Given the description of an element on the screen output the (x, y) to click on. 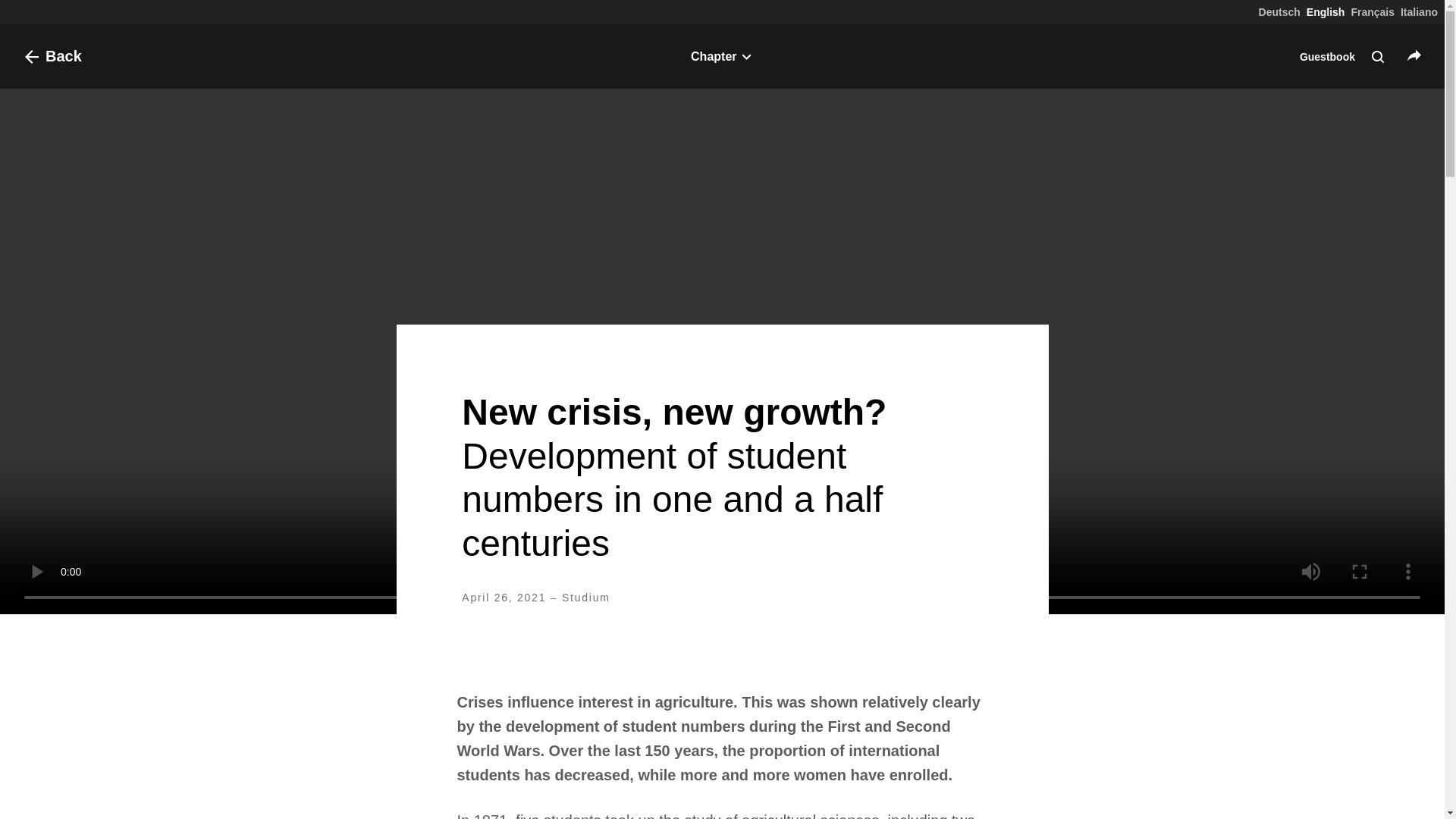
German (1279, 11)
Back (49, 55)
Italiano (1419, 11)
Deutsch (1279, 11)
Italian (1419, 11)
French (1372, 11)
Guestbook (1327, 55)
Chapter (722, 56)
